Given the description of an element on the screen output the (x, y) to click on. 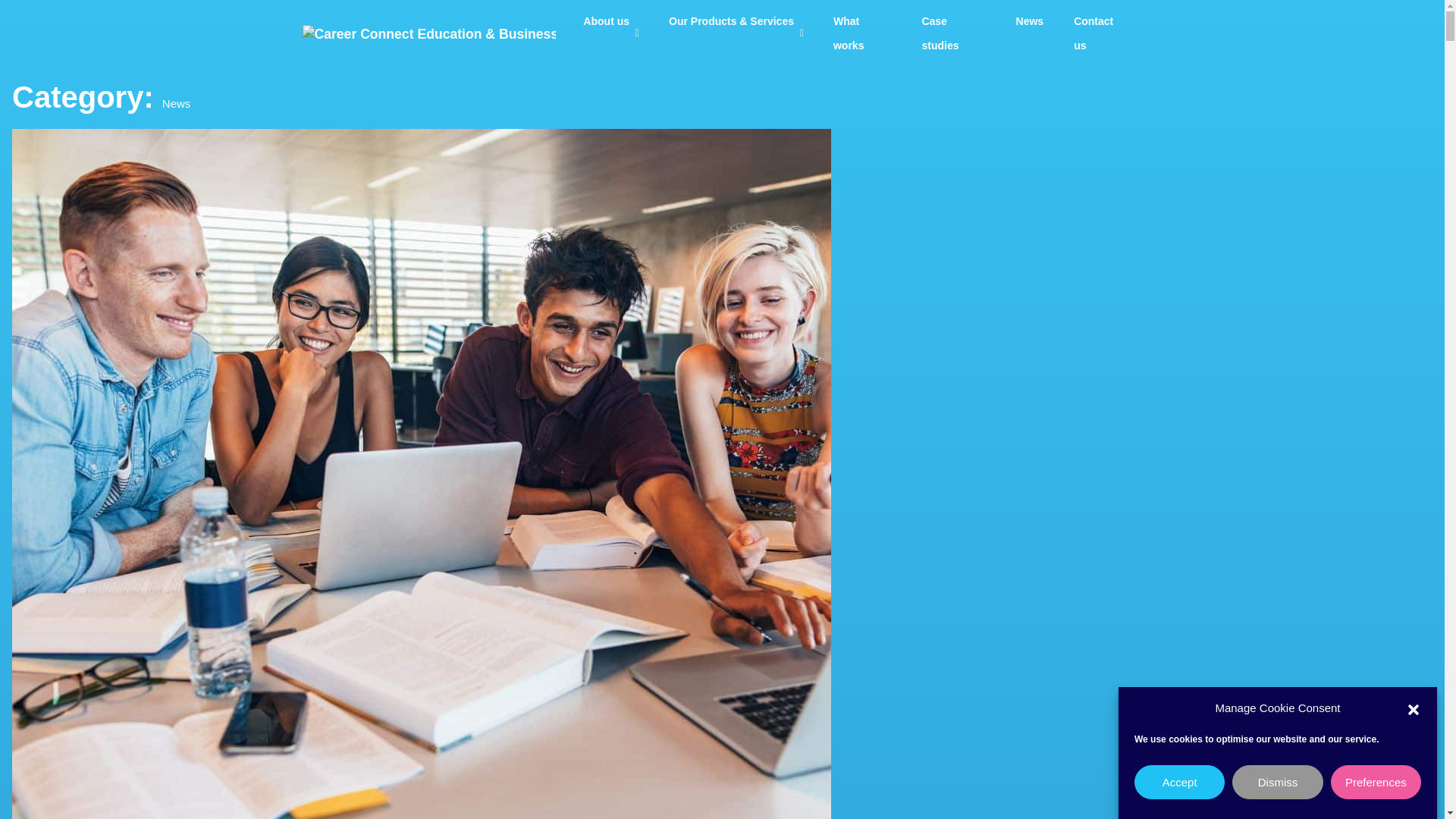
What works (861, 33)
Case studies (952, 33)
About us (610, 21)
What works (861, 33)
Contact us (1099, 33)
About us (610, 21)
News (1030, 21)
News (1030, 21)
Case studies (952, 33)
Contact us (1099, 33)
